Given the description of an element on the screen output the (x, y) to click on. 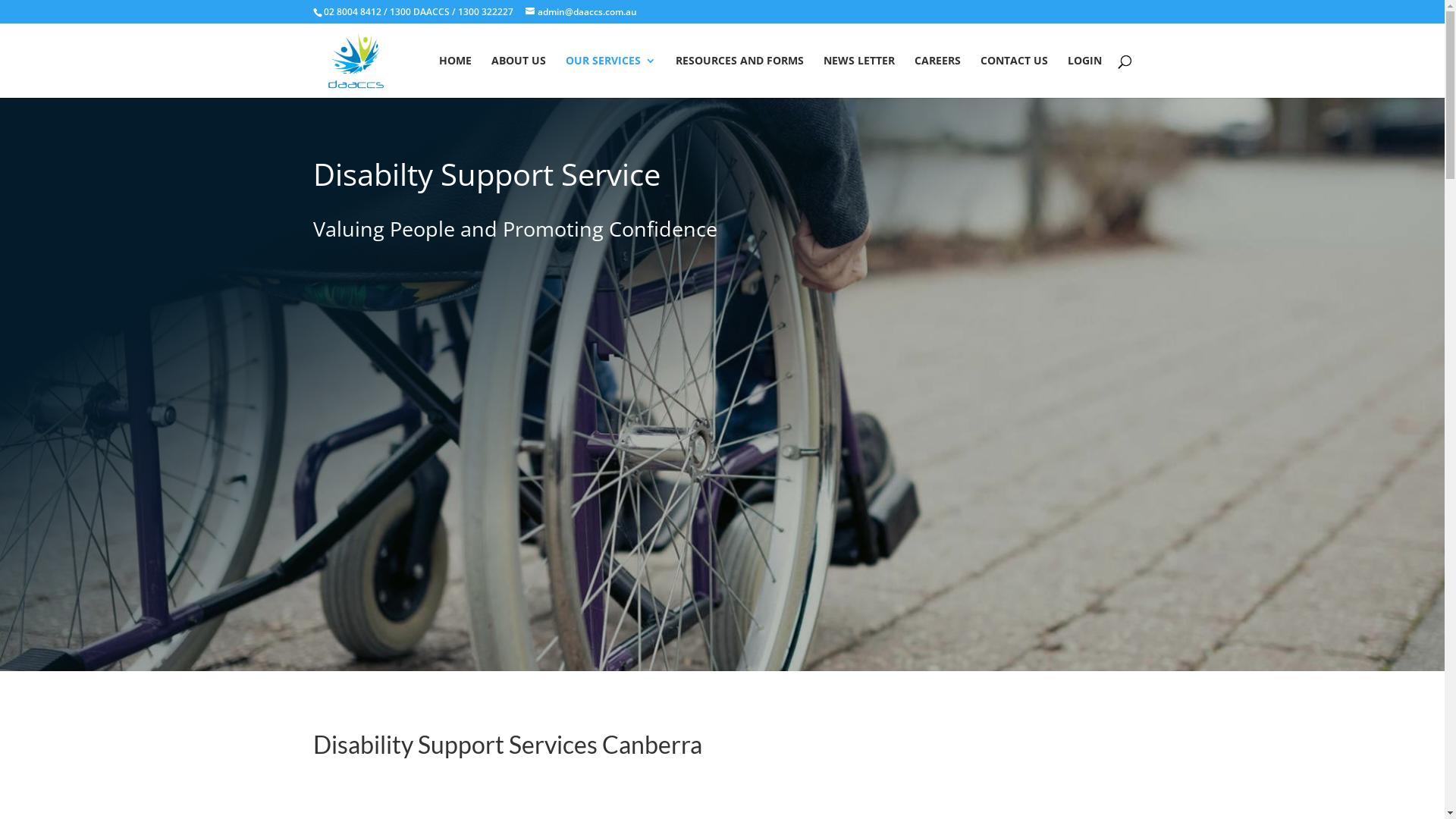
RESOURCES AND FORMS Element type: text (738, 76)
LOGIN Element type: text (1084, 76)
CONTACT US Element type: text (1013, 76)
admin@daaccs.com.au Element type: text (580, 11)
CAREERS Element type: text (937, 76)
OUR SERVICES Element type: text (610, 76)
HOME Element type: text (454, 76)
NEWS LETTER Element type: text (858, 76)
ABOUT US Element type: text (518, 76)
